Given the description of an element on the screen output the (x, y) to click on. 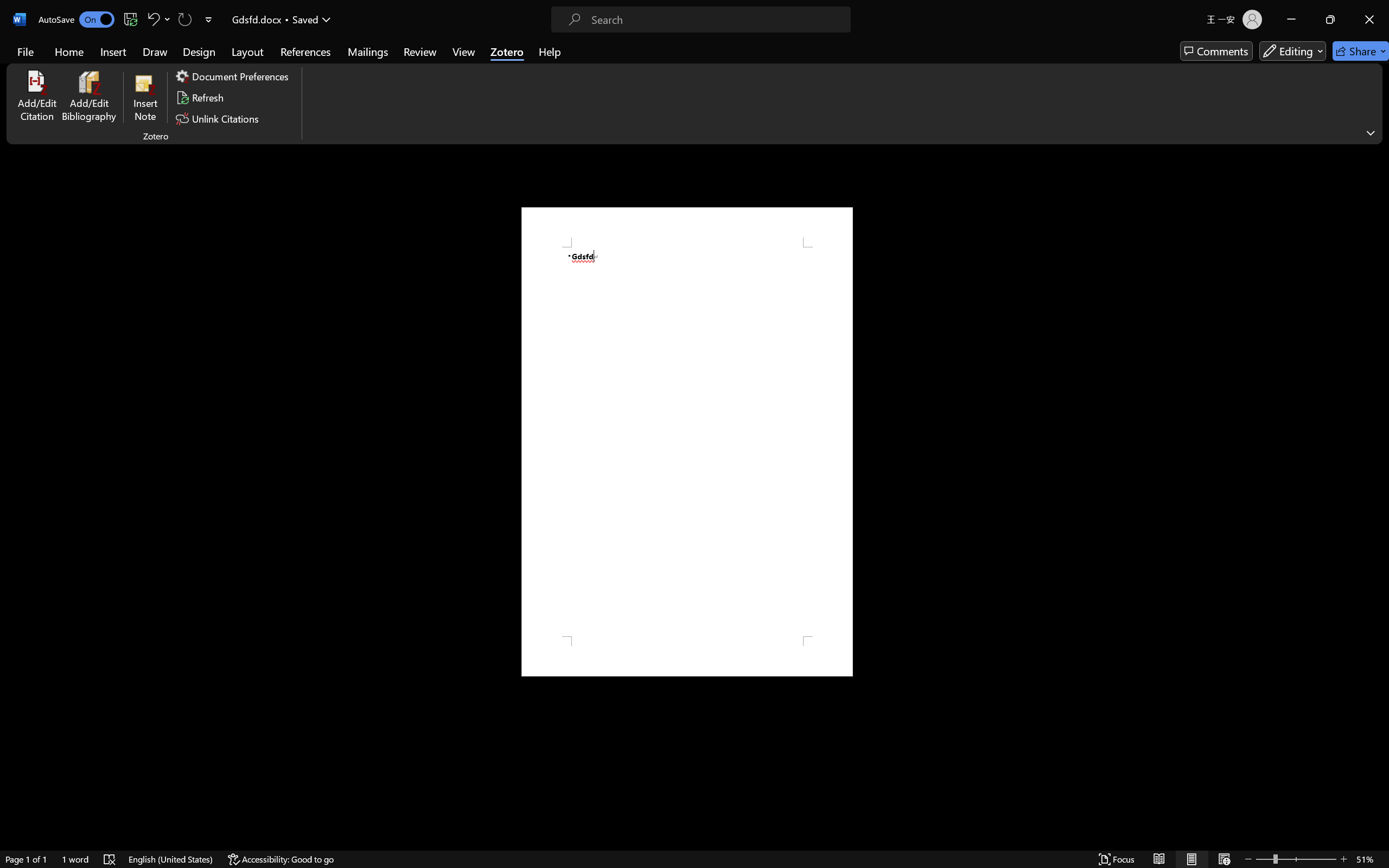
Page 1 content (686, 441)
